Given the description of an element on the screen output the (x, y) to click on. 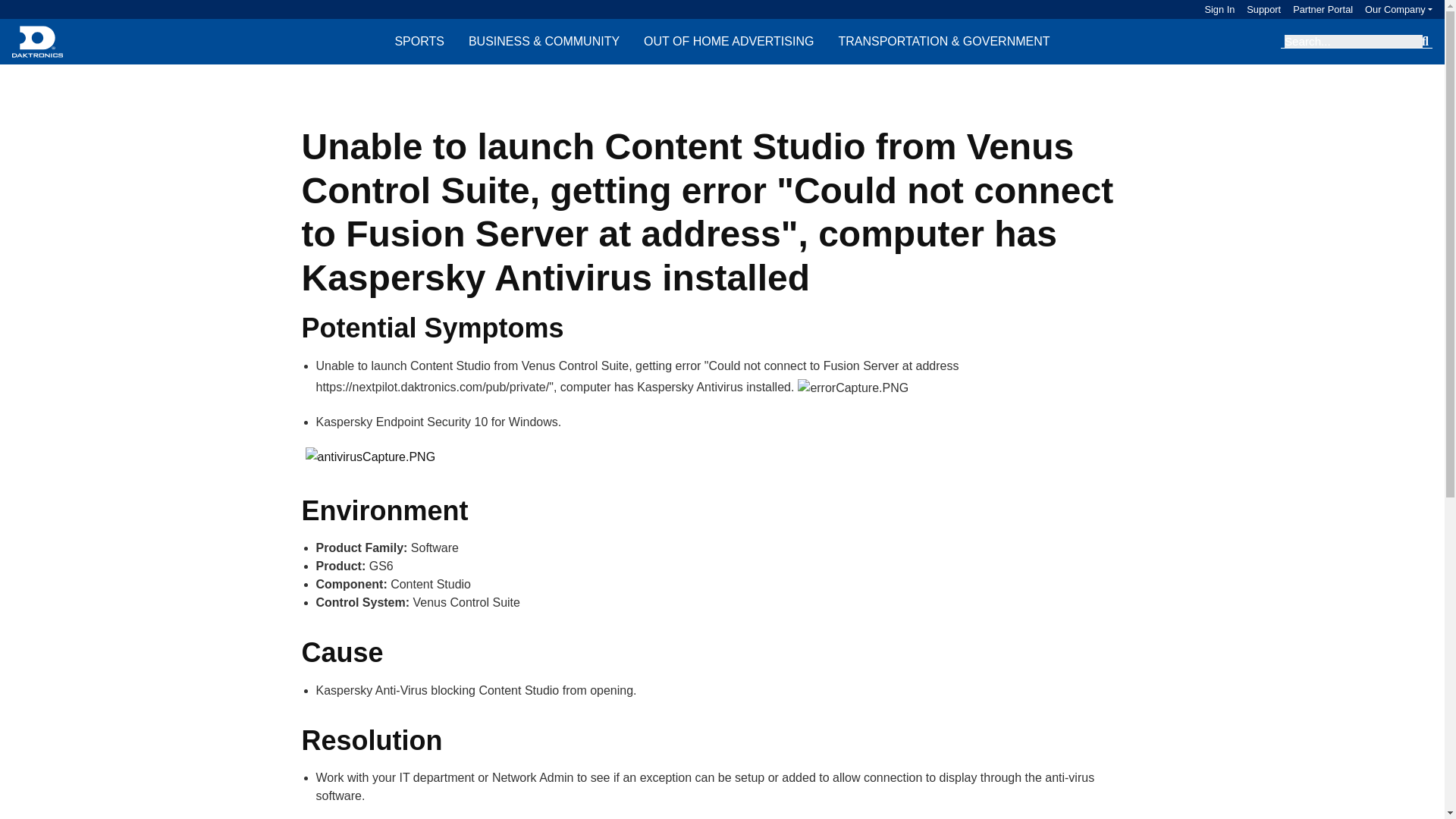
Partner Portal (1316, 9)
Support (1257, 9)
Our Company (1398, 9)
Daktronics (36, 41)
SPORTS (419, 41)
Sign In (1219, 9)
